Given the description of an element on the screen output the (x, y) to click on. 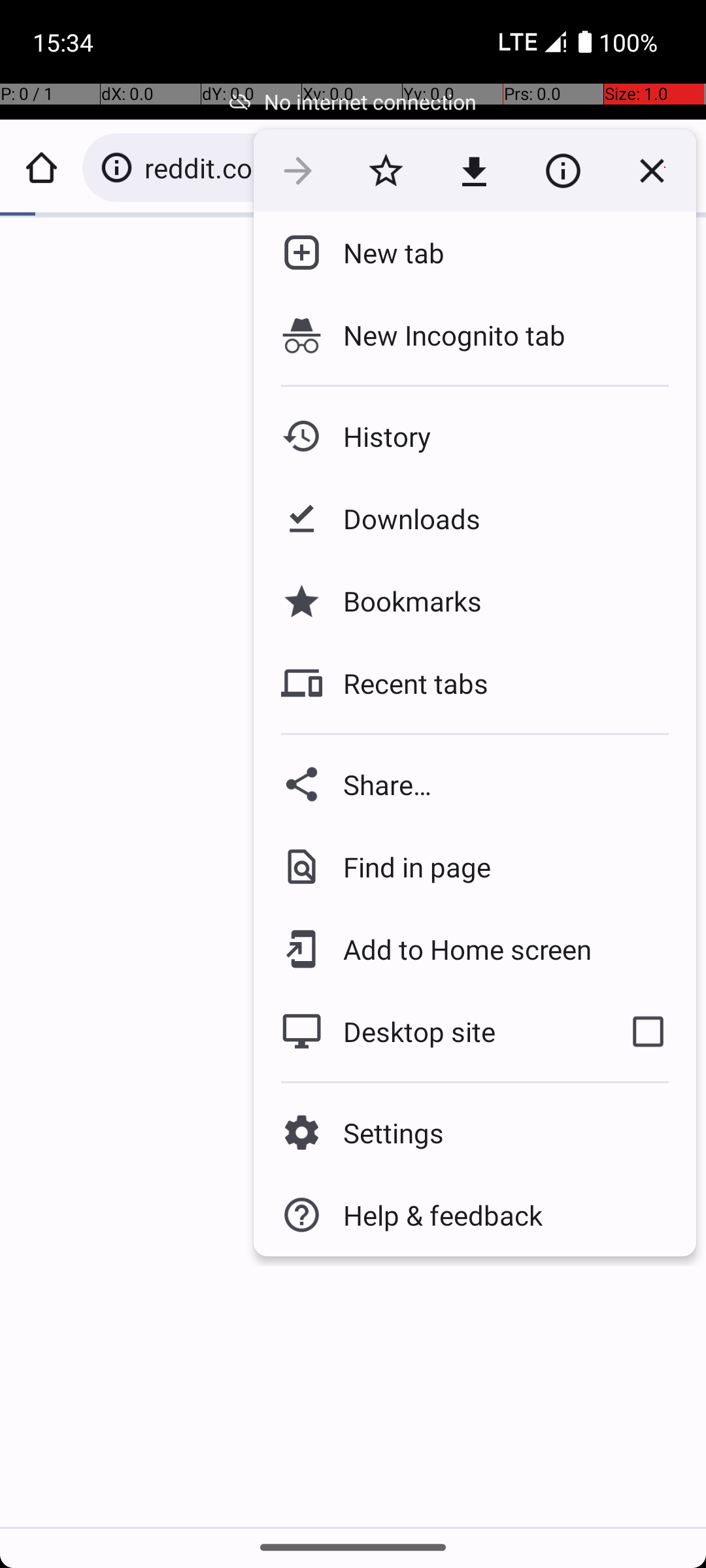
Forward Element type: android.widget.ImageButton (297, 170)
Bookmark Element type: android.widget.ImageButton (385, 170)
Page info Element type: android.widget.ImageButton (562, 170)
Stop refreshing Element type: android.widget.ImageButton (651, 170)
Bookmarks Element type: android.widget.TextView (401, 600)
Recent tabs Element type: android.widget.TextView (405, 683)
Share… Element type: android.widget.TextView (474, 784)
Add to Home screen Element type: android.widget.TextView (457, 949)
